Given the description of an element on the screen output the (x, y) to click on. 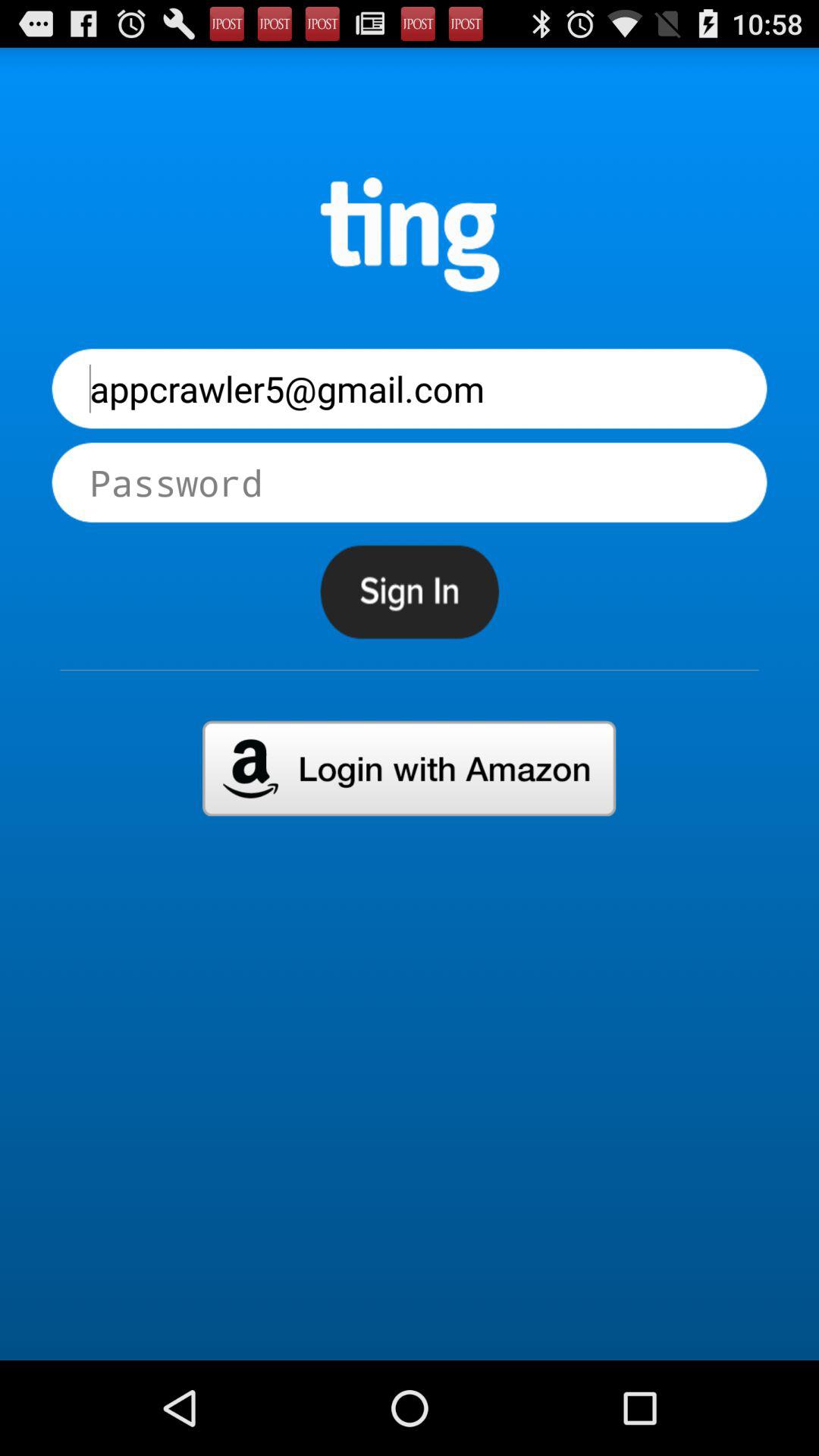
login with amazon (408, 768)
